Given the description of an element on the screen output the (x, y) to click on. 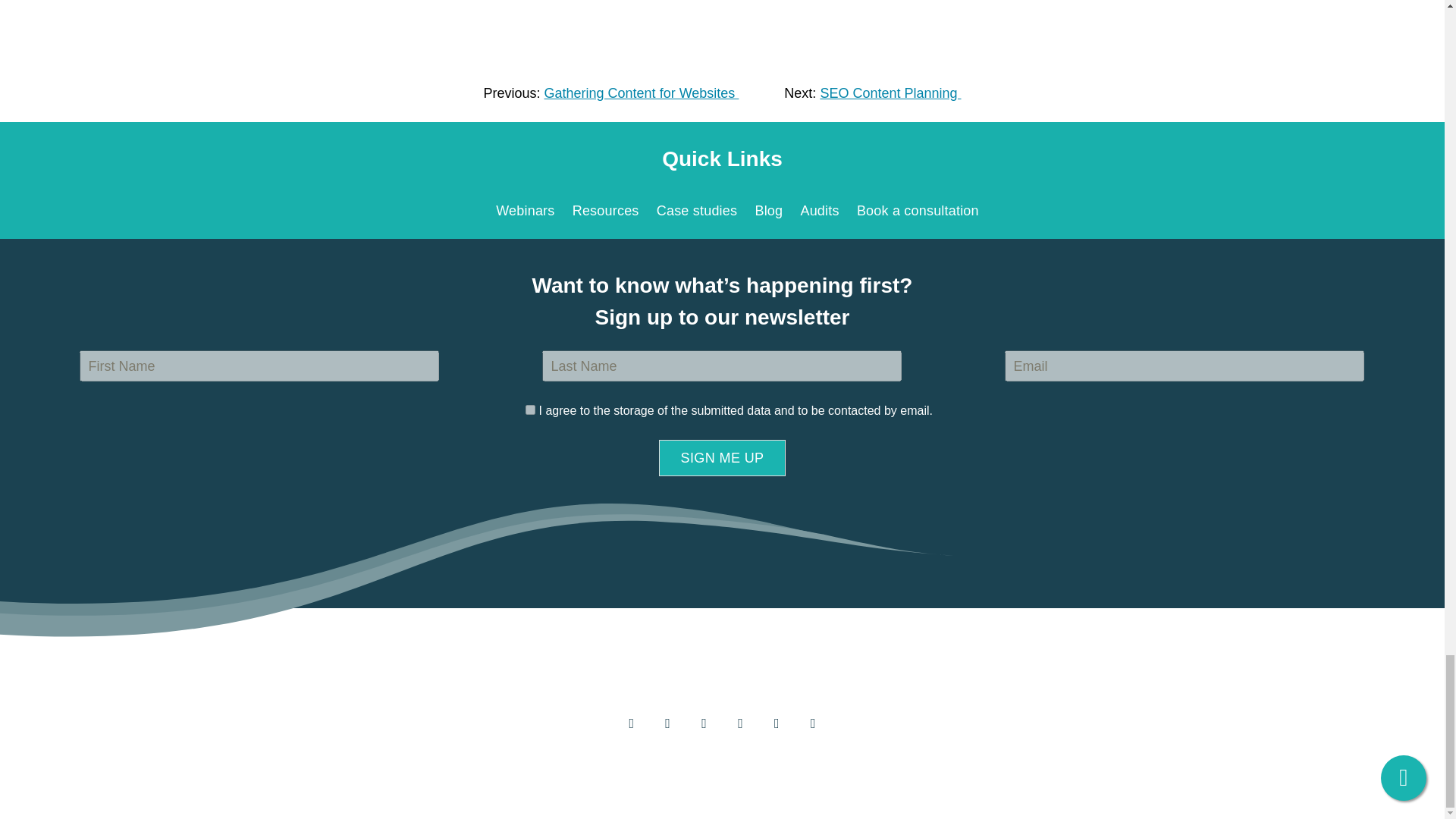
Subscribe on YouTube (740, 723)
1 (530, 409)
Follow us on LinkedIn (703, 723)
Follow us on Instagram (813, 723)
Follow us on Twitter (667, 723)
Follow us on Facebook (631, 723)
Follow us on Pinterest (776, 723)
Sign Me Up (721, 457)
